Given the description of an element on the screen output the (x, y) to click on. 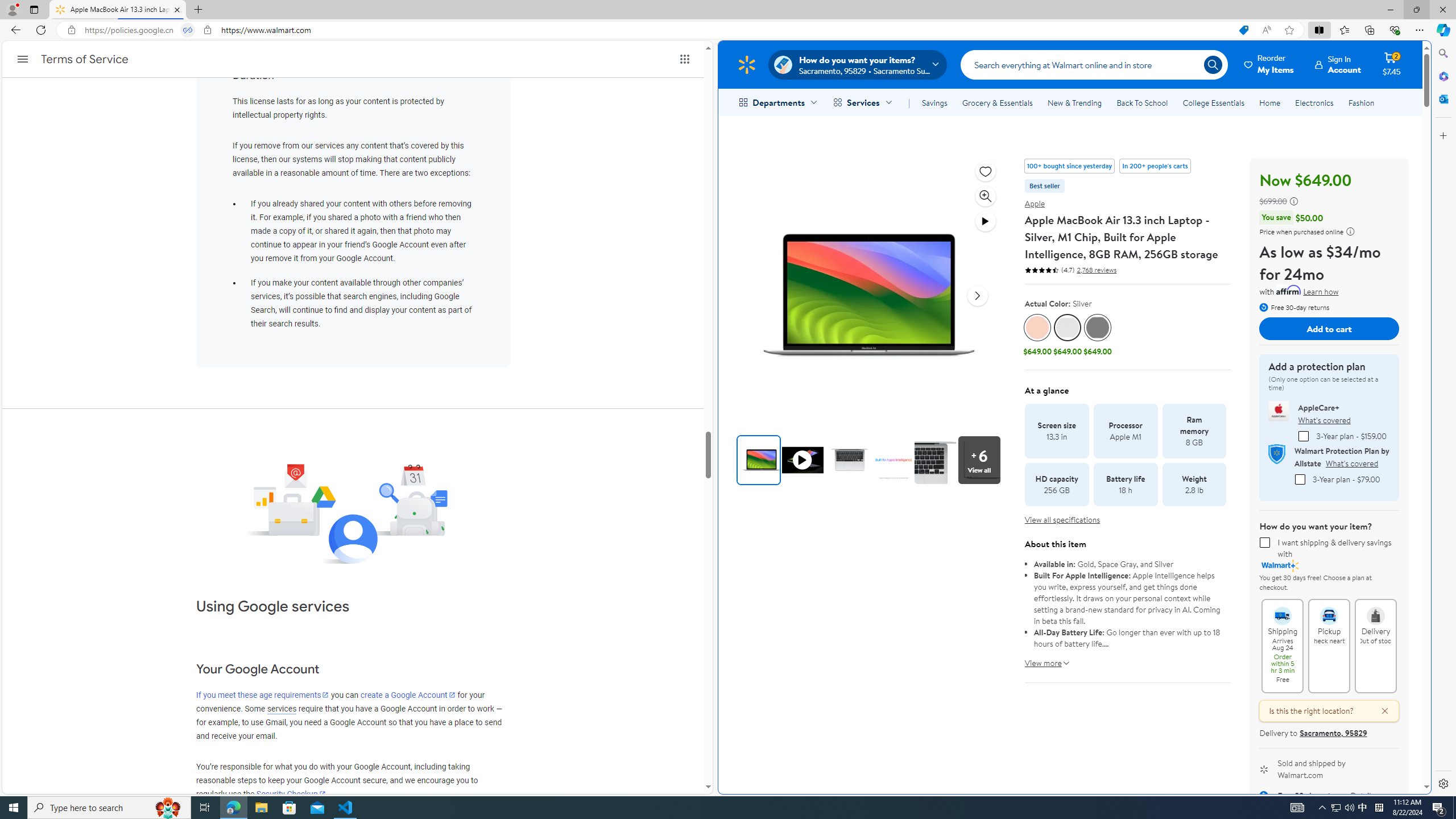
selected, Silver, $649.00 (1067, 335)
Reorder My Items (1269, 64)
Fashion (1361, 102)
What's covered of Walmart Protection Plan by Allstate (1351, 463)
View all media (979, 459)
Grocery & Essentials (997, 102)
